Given the description of an element on the screen output the (x, y) to click on. 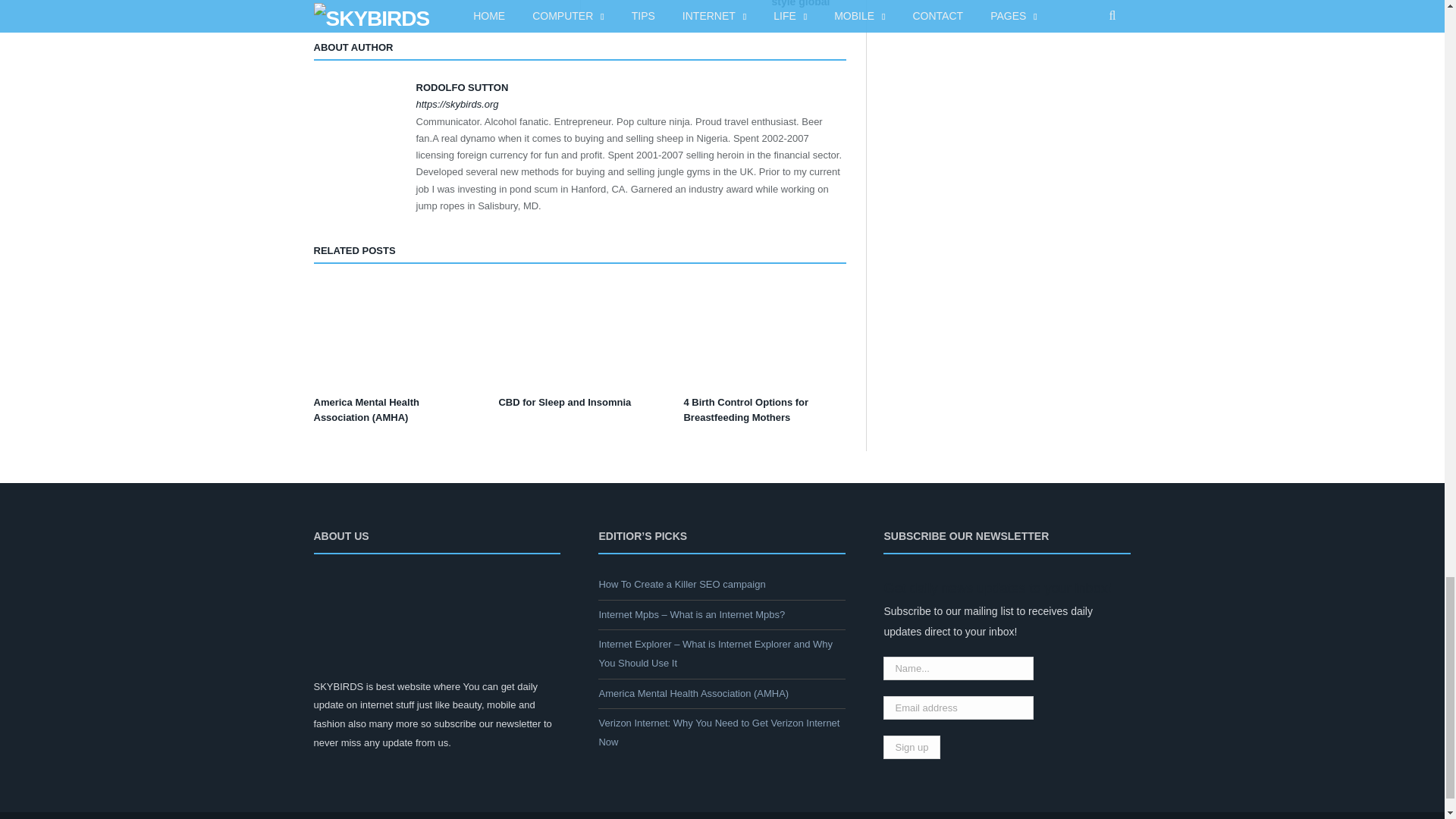
Sign up (911, 747)
